Given the description of an element on the screen output the (x, y) to click on. 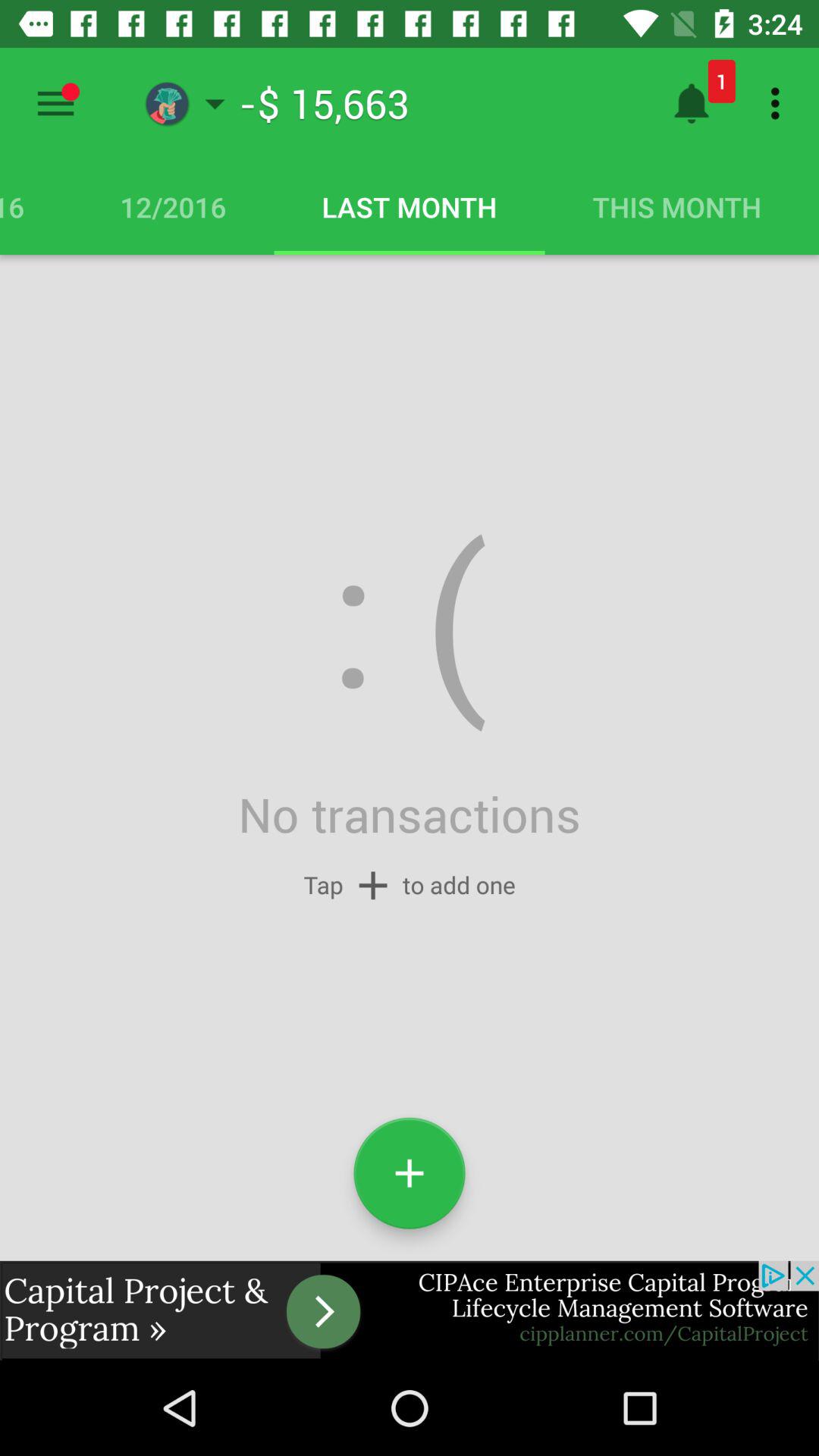
menu options to select (55, 103)
